Given the description of an element on the screen output the (x, y) to click on. 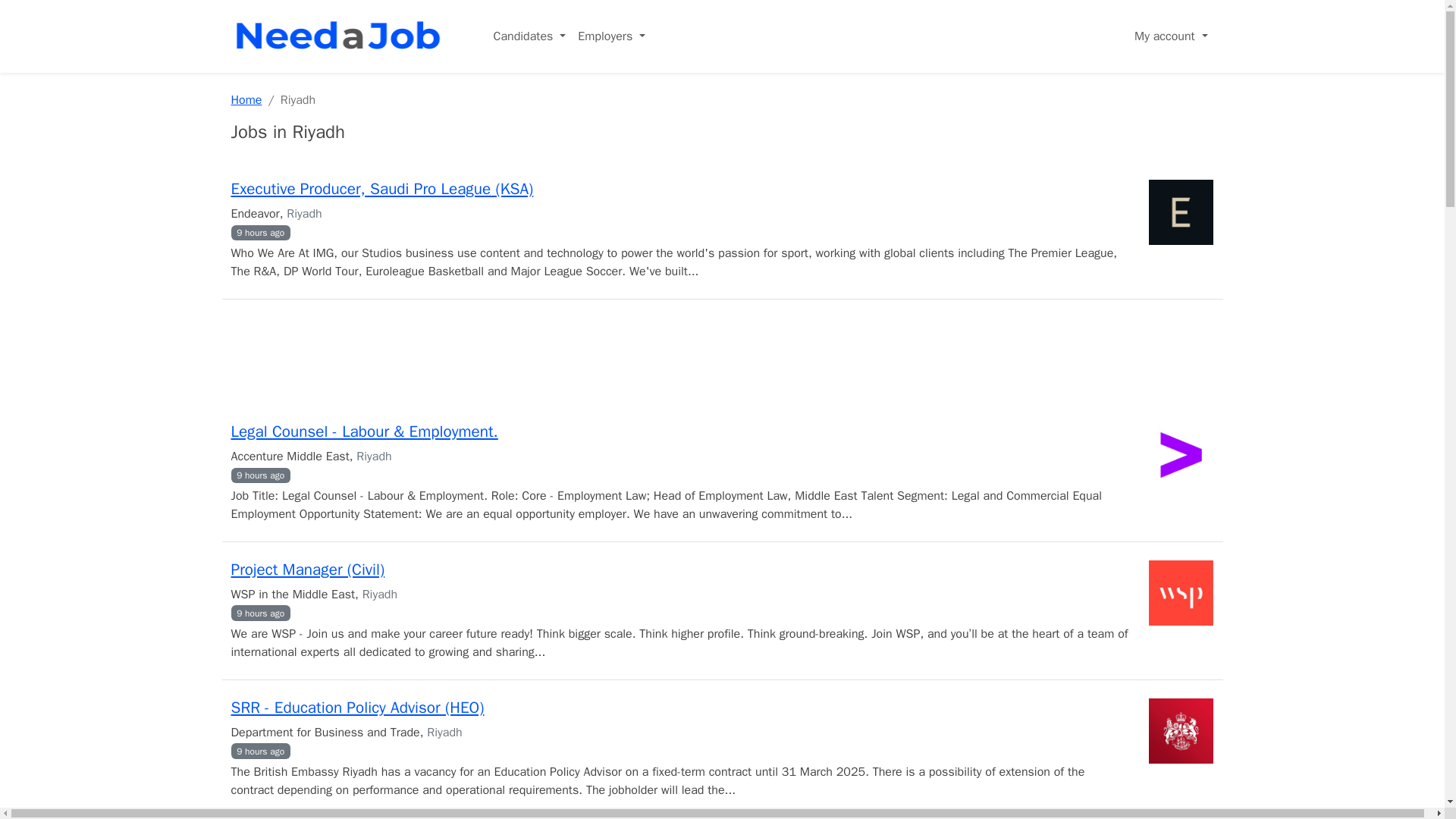
Candidates (529, 36)
Need-a-Job (339, 35)
Home (246, 99)
My account (1170, 36)
Advertisement (721, 357)
Employers (611, 36)
